Given the description of an element on the screen output the (x, y) to click on. 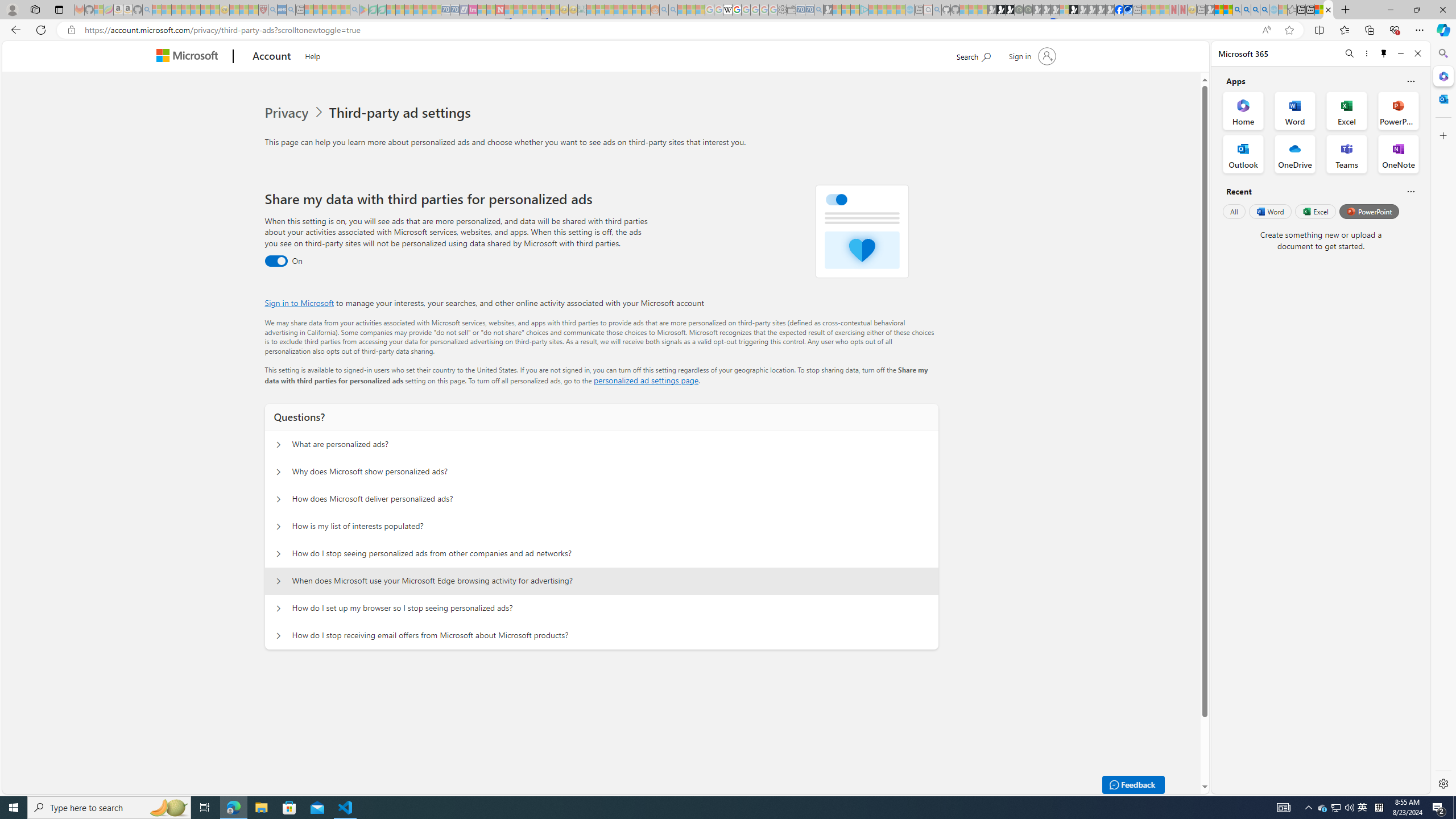
OneDrive Office App (1295, 154)
Word (1269, 210)
Search Microsoft.com (972, 54)
